Given the description of an element on the screen output the (x, y) to click on. 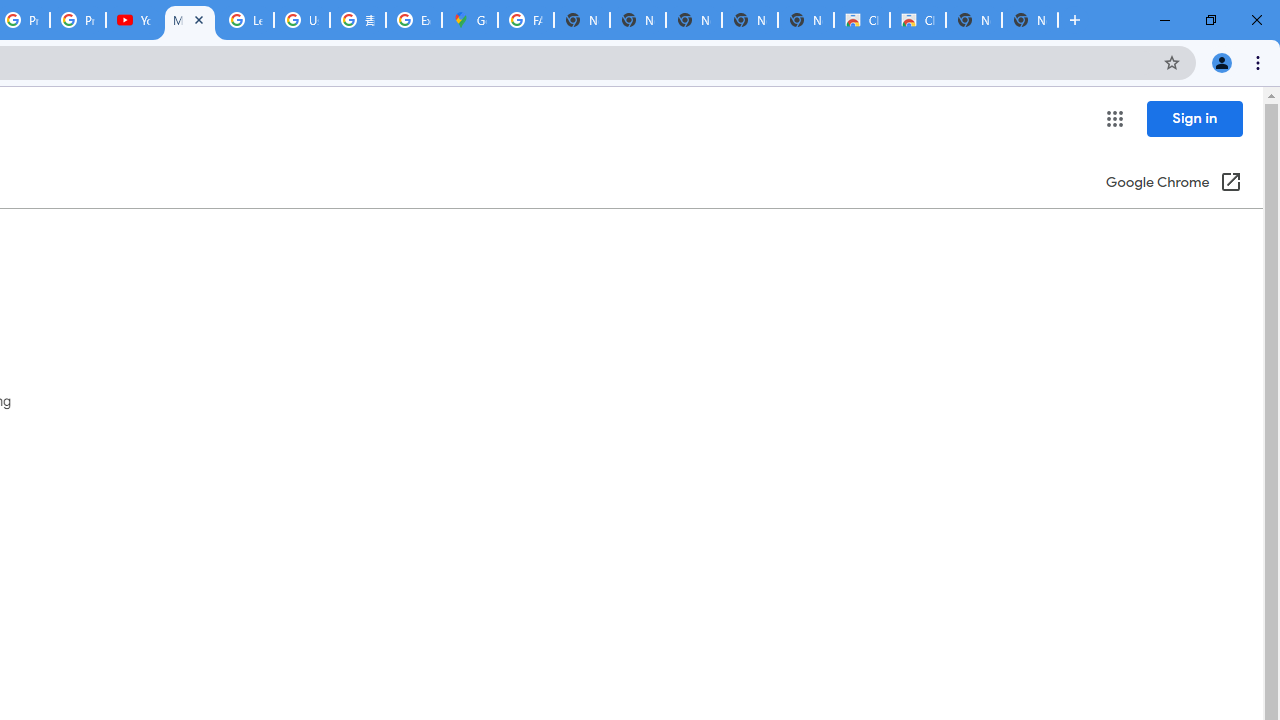
Privacy Checkup (77, 20)
Google Maps (469, 20)
YouTube (134, 20)
New Tab (1030, 20)
Google Chrome (Open in a new window) (1173, 183)
Classic Blue - Chrome Web Store (861, 20)
Explore new street-level details - Google Maps Help (413, 20)
